Given the description of an element on the screen output the (x, y) to click on. 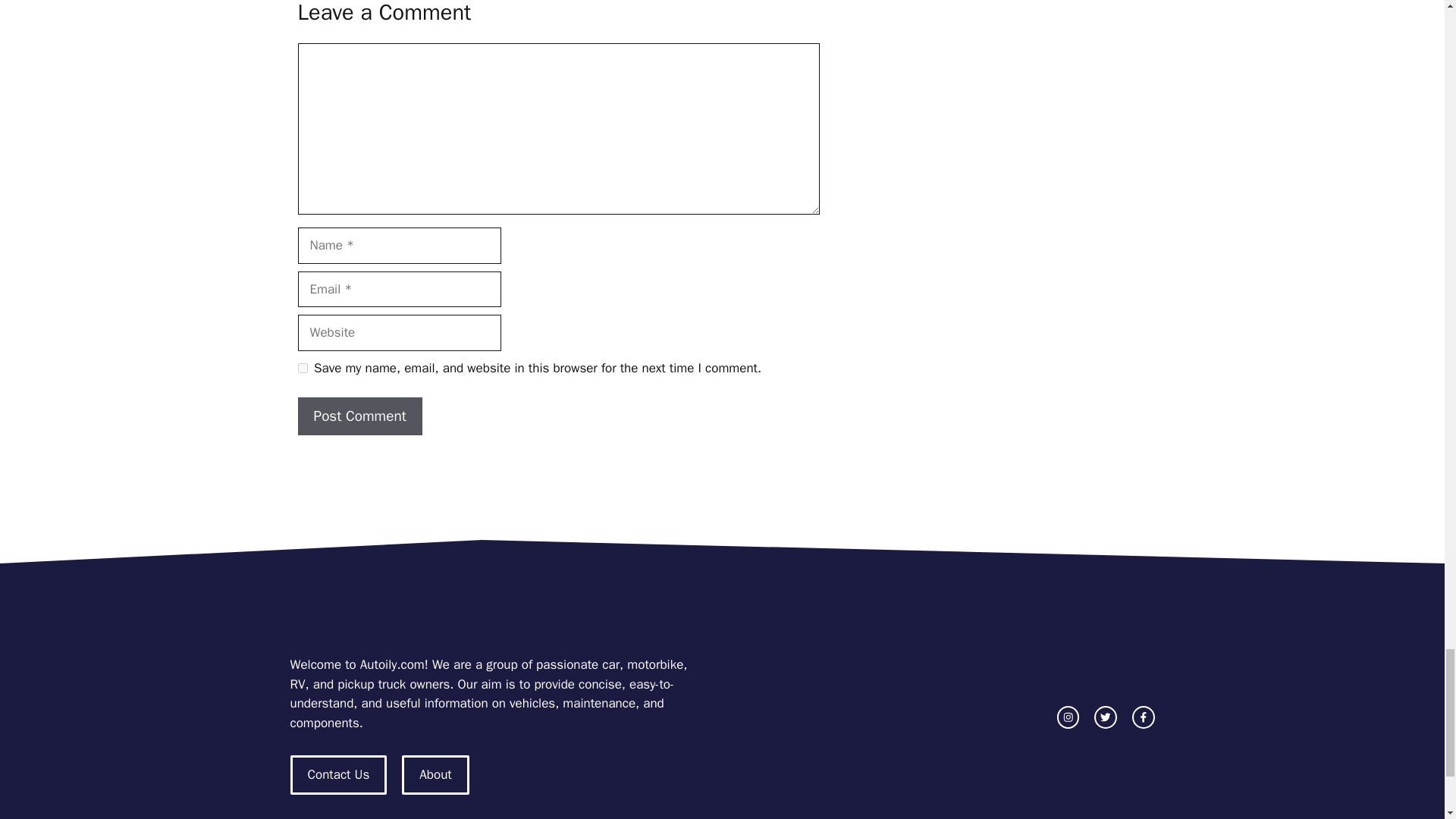
Contact Us (338, 774)
Post Comment (359, 416)
Post Comment (359, 416)
About (434, 774)
yes (302, 368)
